Given the description of an element on the screen output the (x, y) to click on. 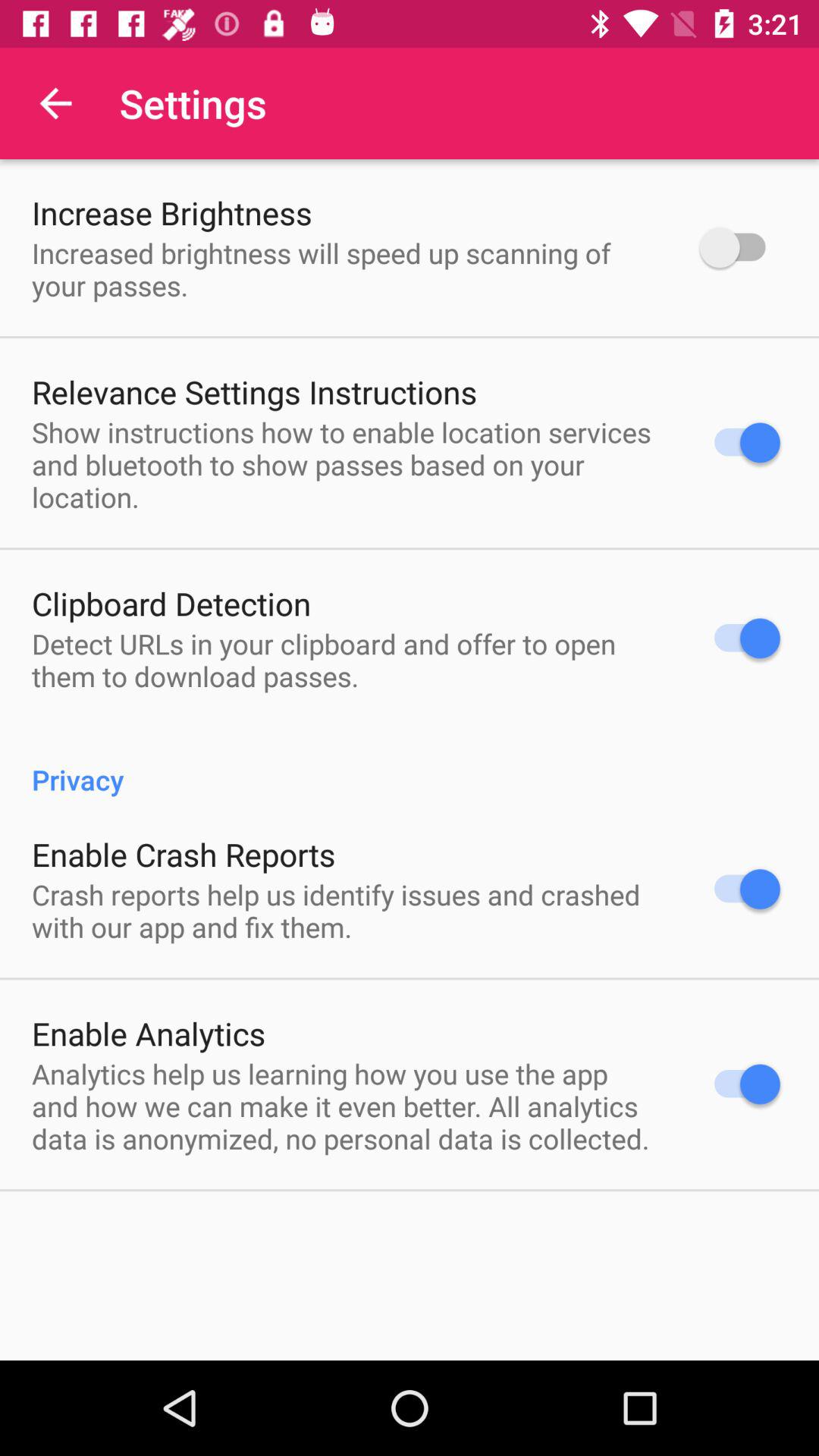
open the app to the left of the settings icon (55, 103)
